Given the description of an element on the screen output the (x, y) to click on. 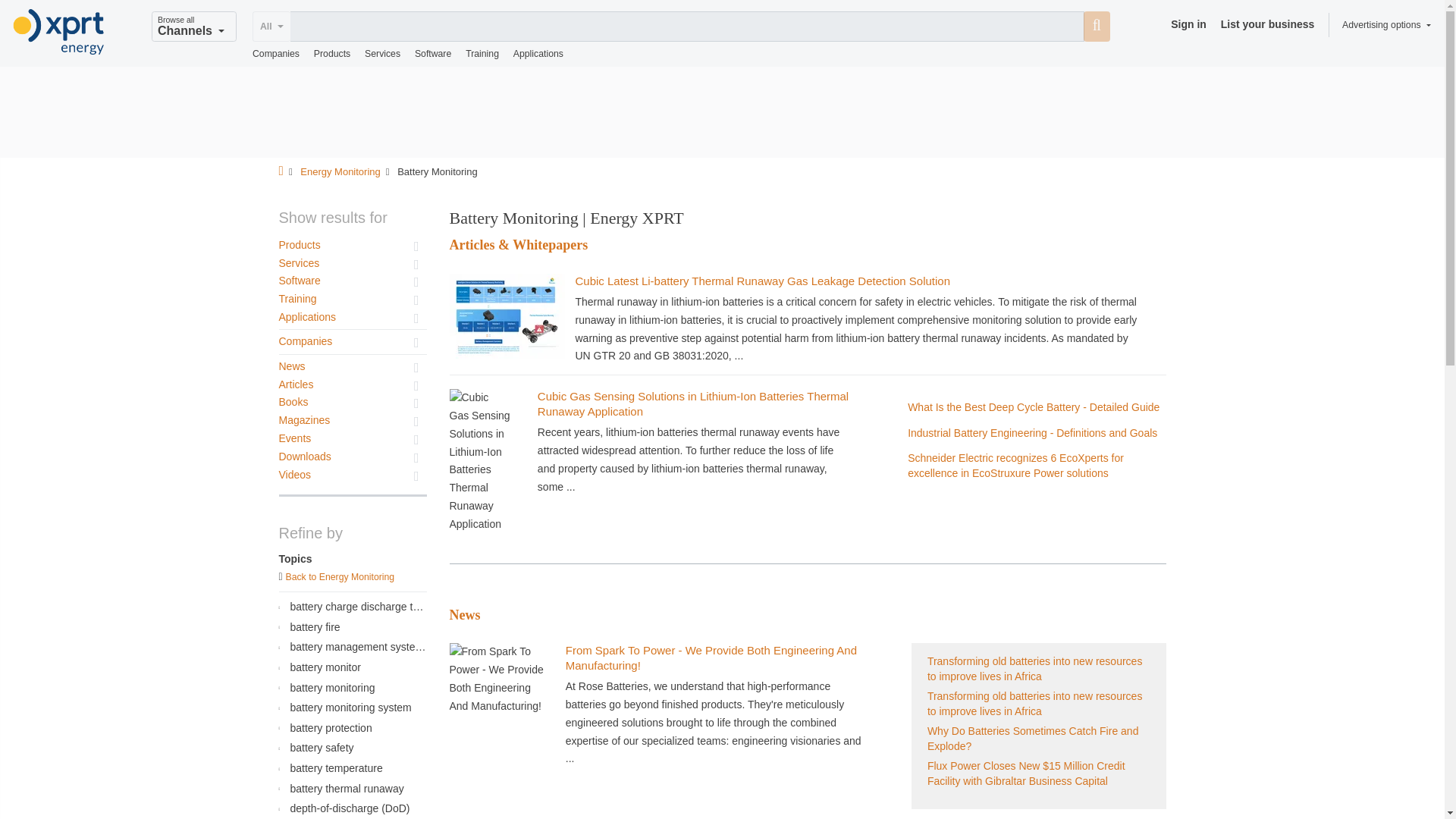
battery charge discharge tester (350, 607)
Energy Monitoring (339, 171)
battery fire (350, 627)
Logo Energy XPRT (58, 31)
